Given the description of an element on the screen output the (x, y) to click on. 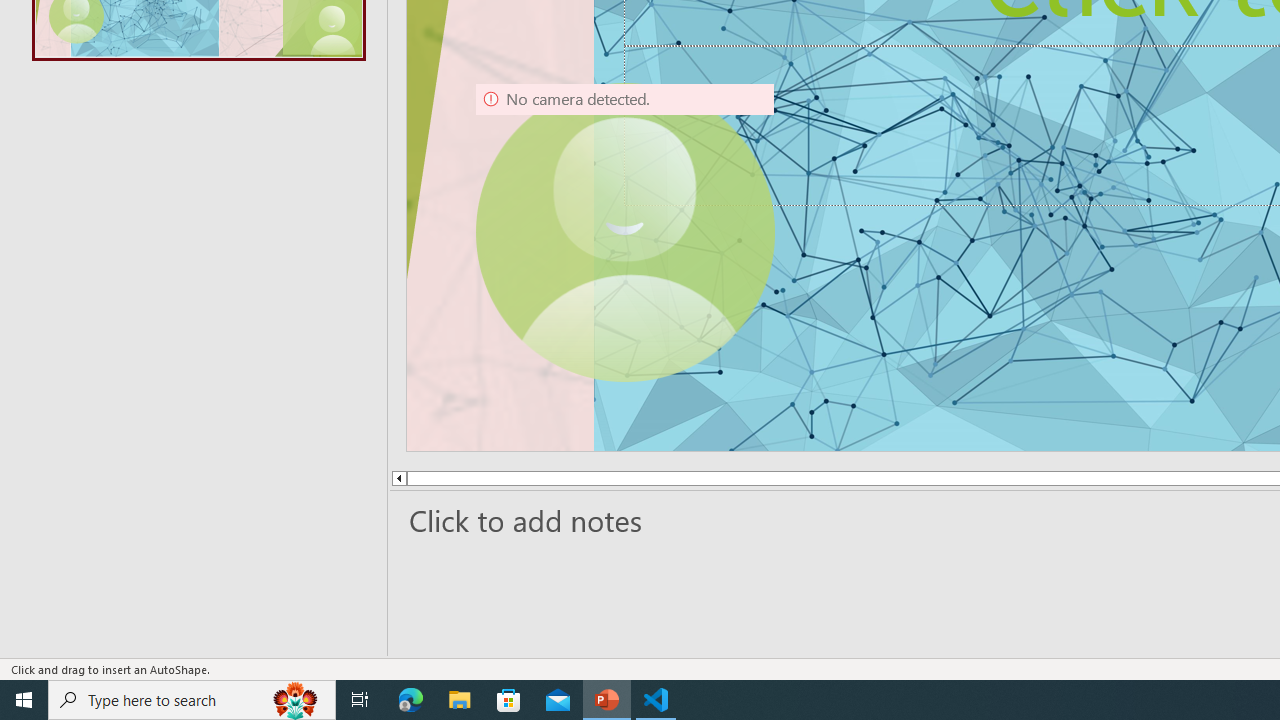
Camera 9, No camera detected. (624, 232)
